Given the description of an element on the screen output the (x, y) to click on. 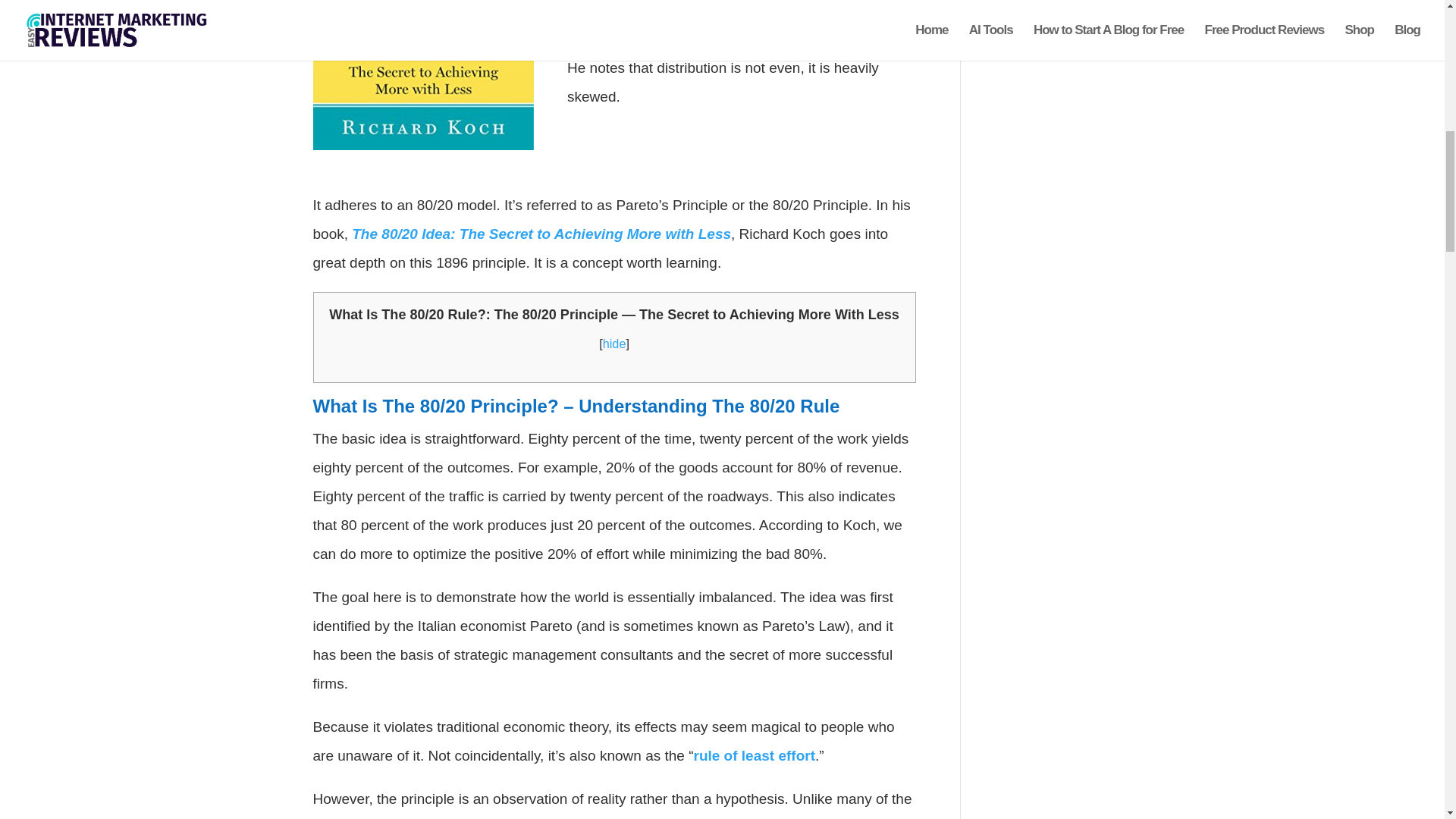
hide (614, 343)
What Is The 80-20 Rule (423, 74)
rule of least effort (753, 755)
